Given the description of an element on the screen output the (x, y) to click on. 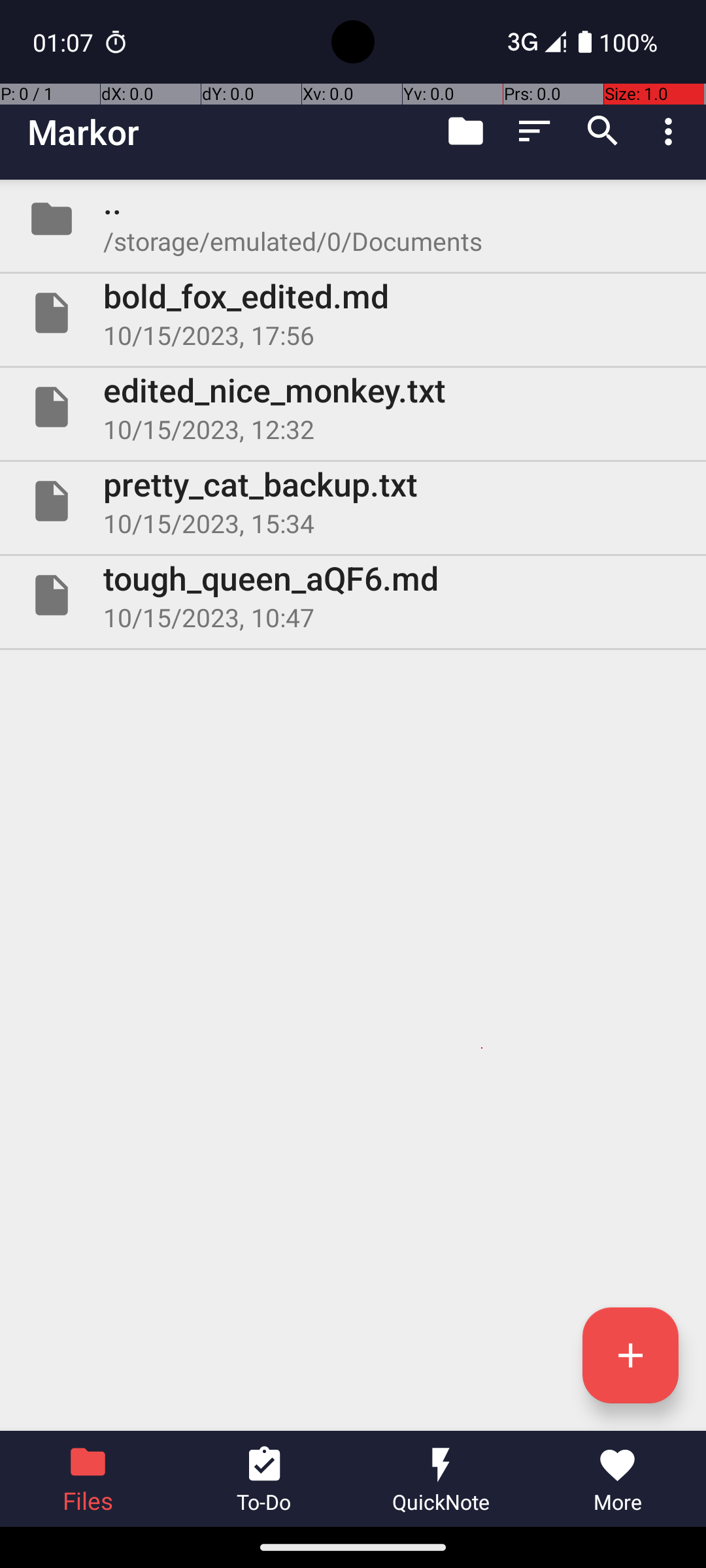
File bold_fox_edited.md  Element type: android.widget.LinearLayout (353, 312)
File edited_nice_monkey.txt  Element type: android.widget.LinearLayout (353, 406)
File pretty_cat_backup.txt  Element type: android.widget.LinearLayout (353, 500)
File tough_queen_aQF6.md  Element type: android.widget.LinearLayout (353, 594)
01:07 Element type: android.widget.TextView (64, 41)
